Given the description of an element on the screen output the (x, y) to click on. 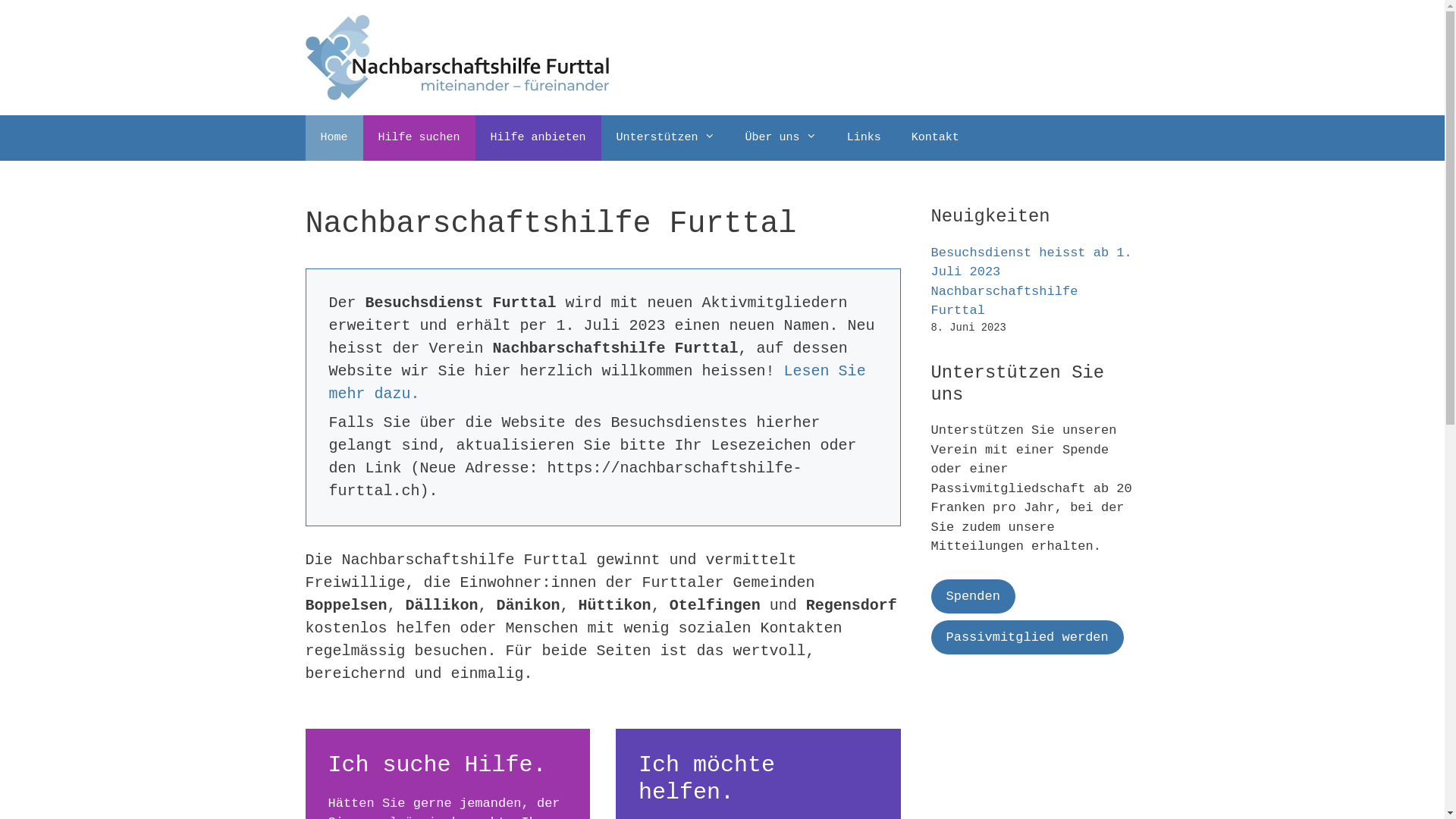
Hilfe anbieten Element type: text (538, 137)
Home Element type: text (333, 137)
Kontakt Element type: text (935, 137)
Lesen Sie mehr dazu. Element type: text (597, 382)
Hilfe suchen Element type: text (419, 137)
Passivmitglied werden Element type: text (1027, 637)
Spenden Element type: text (973, 596)
Links Element type: text (863, 137)
